Given the description of an element on the screen output the (x, y) to click on. 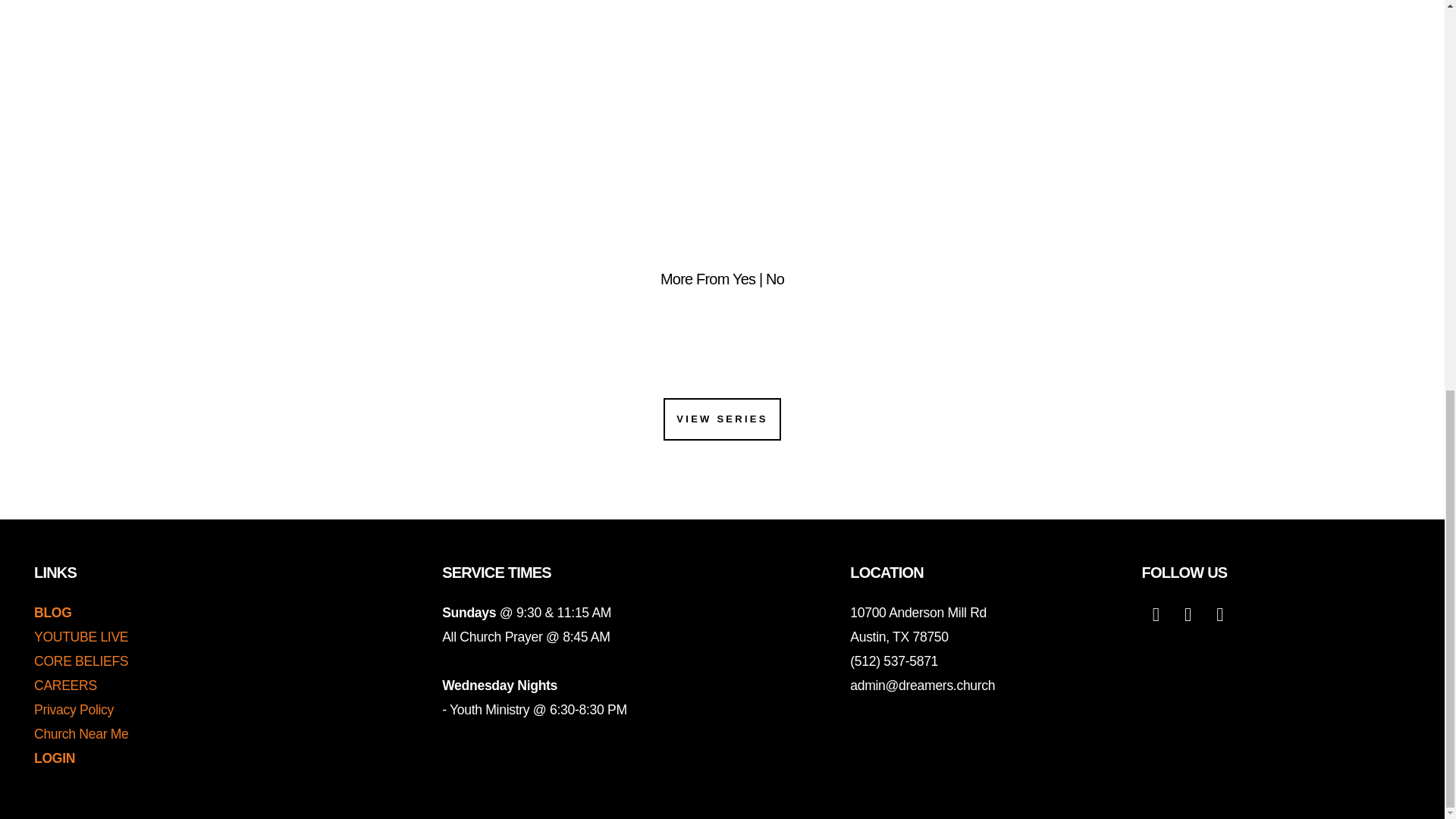
BLOG (52, 612)
CAREERS (65, 685)
Privacy Policy (73, 709)
Call with Google Voice (893, 661)
YOUTUBE LIVE (80, 636)
Call with Google Voice (922, 685)
CORE BELIEFS (80, 661)
VIEW SERIES (721, 419)
LOGIN (54, 758)
Church Near Me (81, 734)
